Given the description of an element on the screen output the (x, y) to click on. 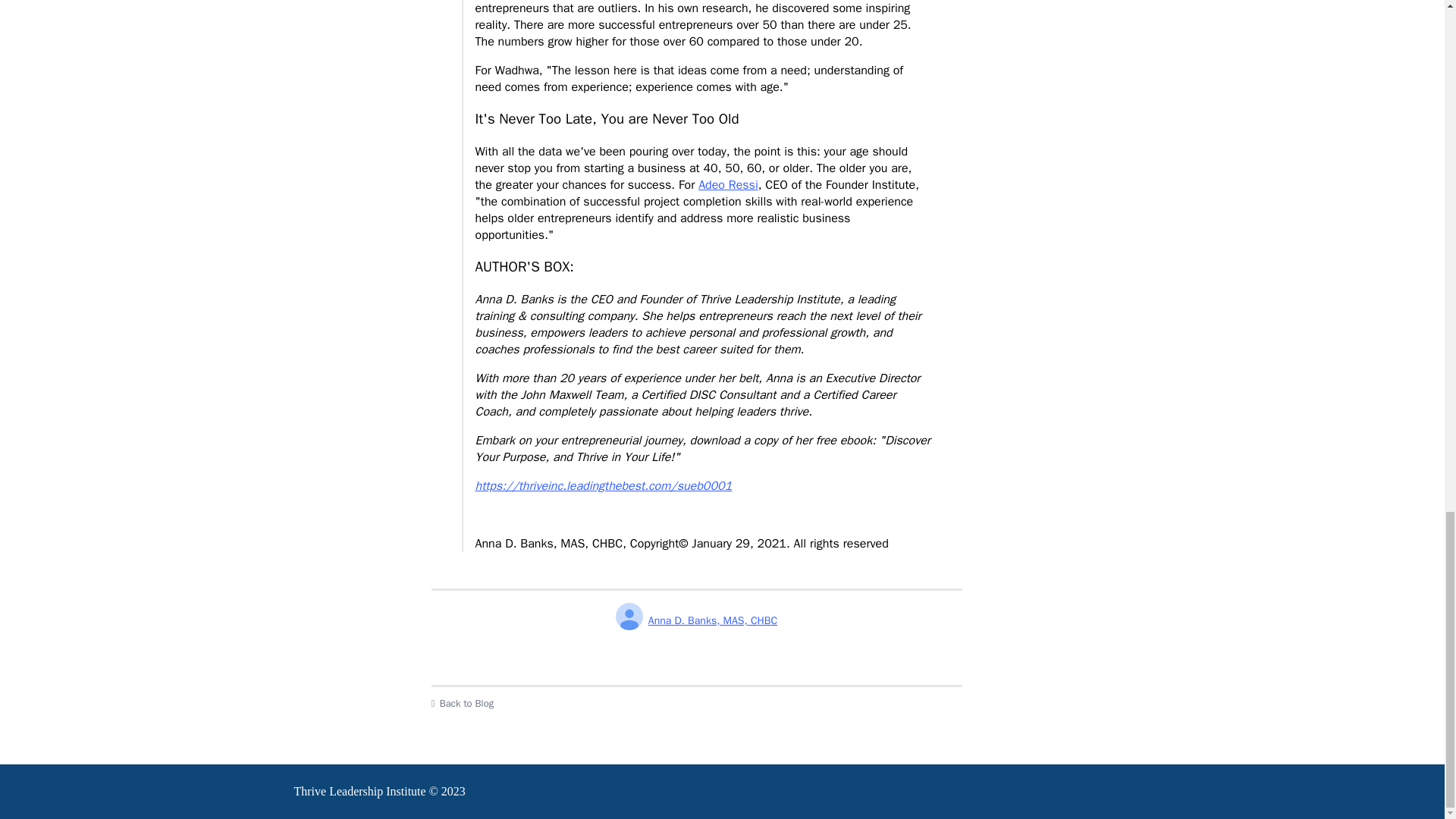
Anna D. Banks, MAS, CHBC (696, 620)
Back to Blog (695, 703)
Adeo Ressi (728, 184)
